Given the description of an element on the screen output the (x, y) to click on. 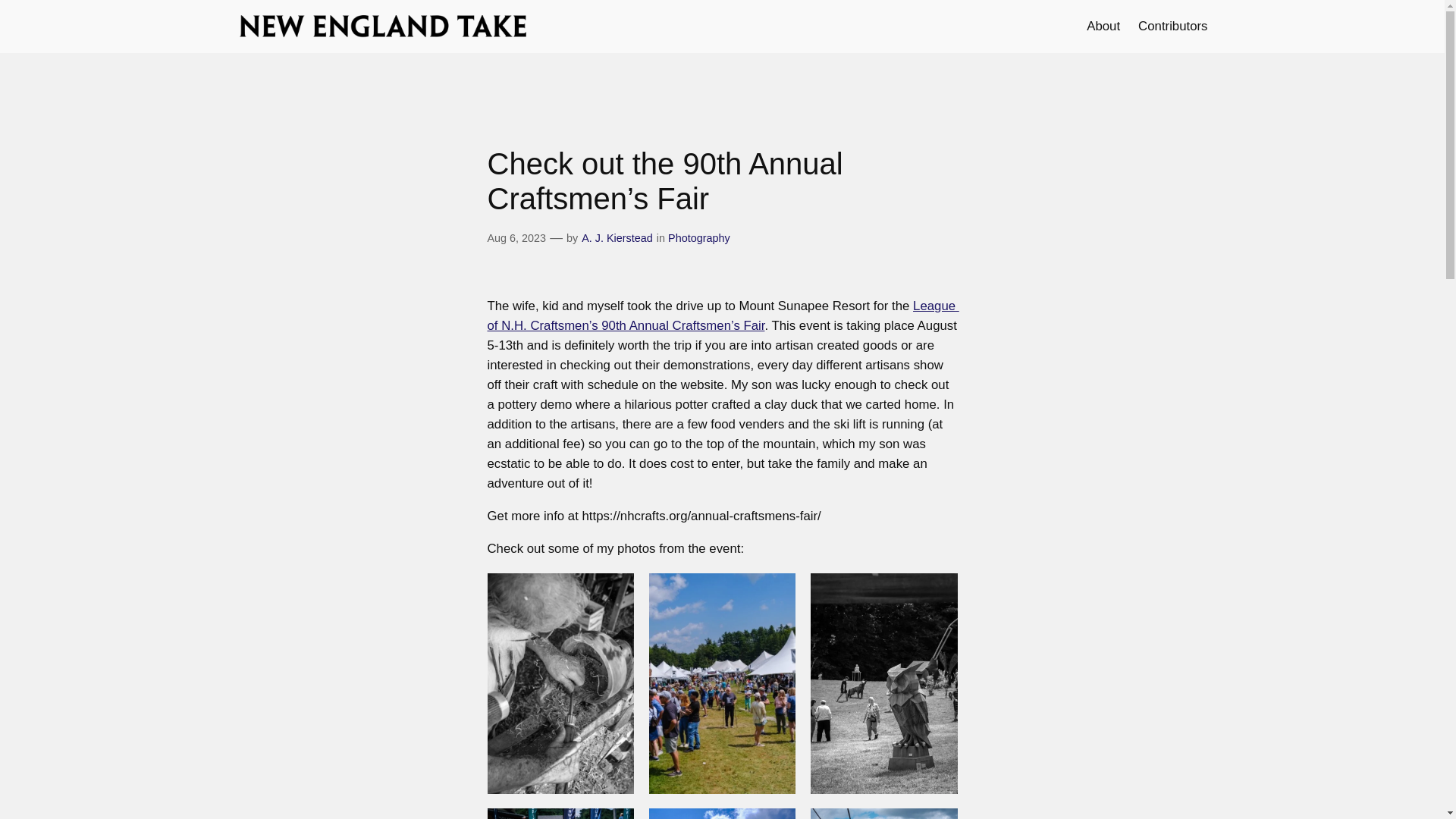
Aug 6, 2023 (516, 237)
Contributors (1172, 26)
A. J. Kierstead (616, 237)
Photography (699, 237)
About (1102, 26)
